Given the description of an element on the screen output the (x, y) to click on. 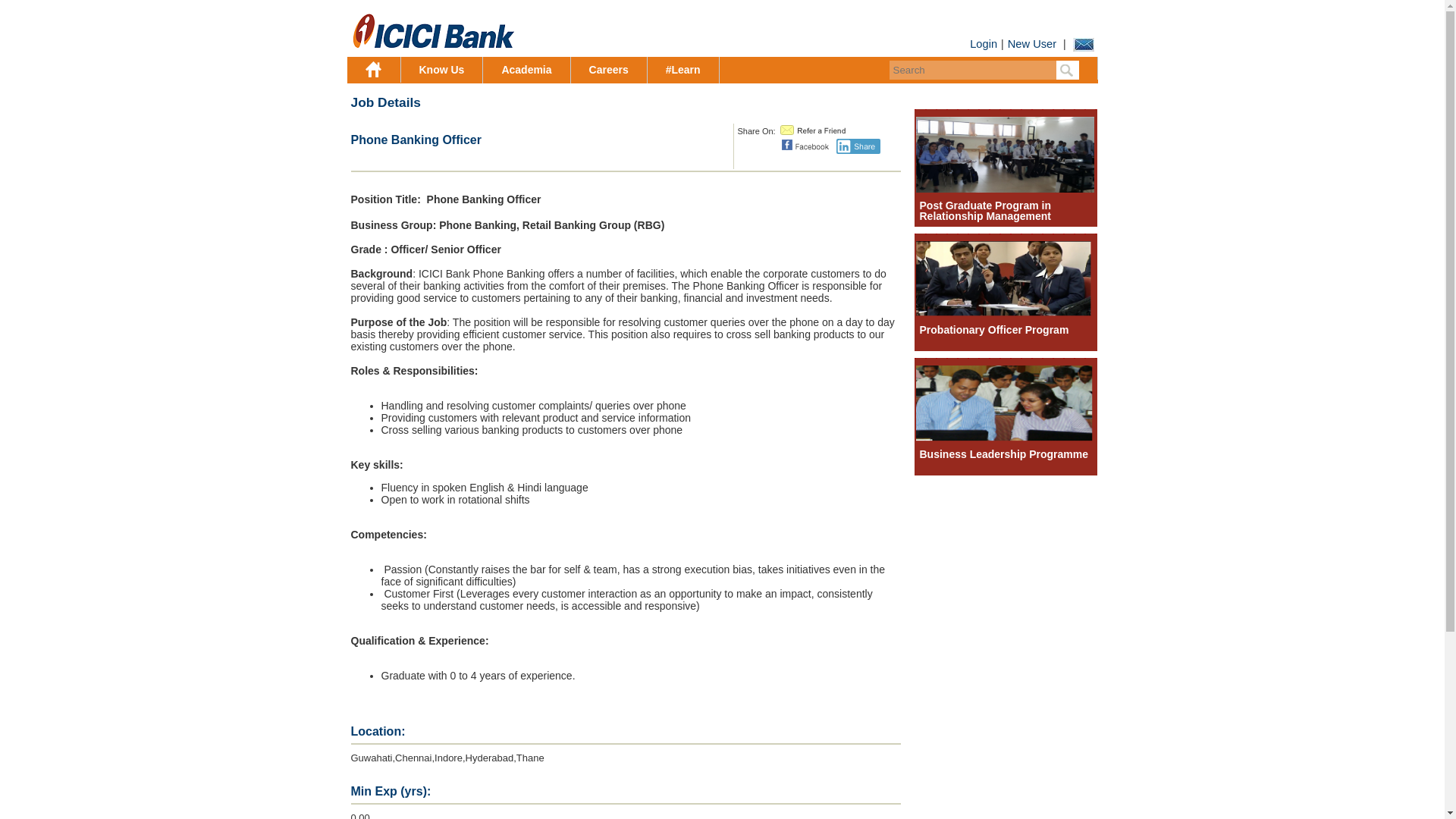
Probationary Officer Program (1004, 313)
Probationary Officer Program (993, 329)
Business Leadership Programme (1002, 453)
Careers (608, 69)
Post Graduate Program in Relationship Management (983, 210)
Academia (525, 69)
Business Leadership Programme (1002, 453)
New User (1030, 43)
Post Graduate Program in Relationship Management (983, 210)
Login (985, 43)
Share (857, 145)
Post Graduate Program in Relationship Management (1004, 188)
Business Leadership Programme (1004, 437)
